Given the description of an element on the screen output the (x, y) to click on. 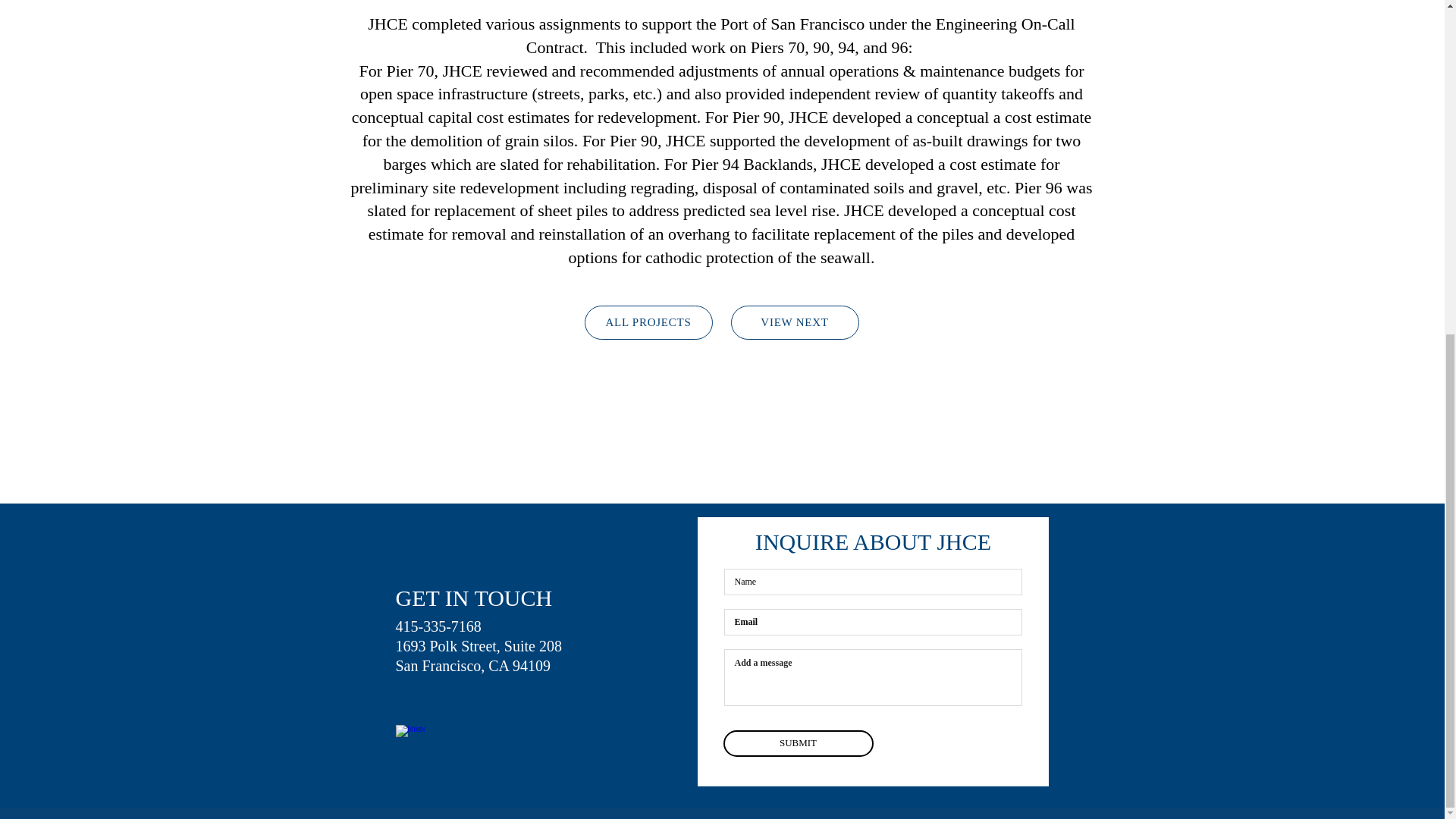
VIEW NEXT (794, 322)
ALL PROJECTS (647, 322)
SUBMIT (798, 743)
